Given the description of an element on the screen output the (x, y) to click on. 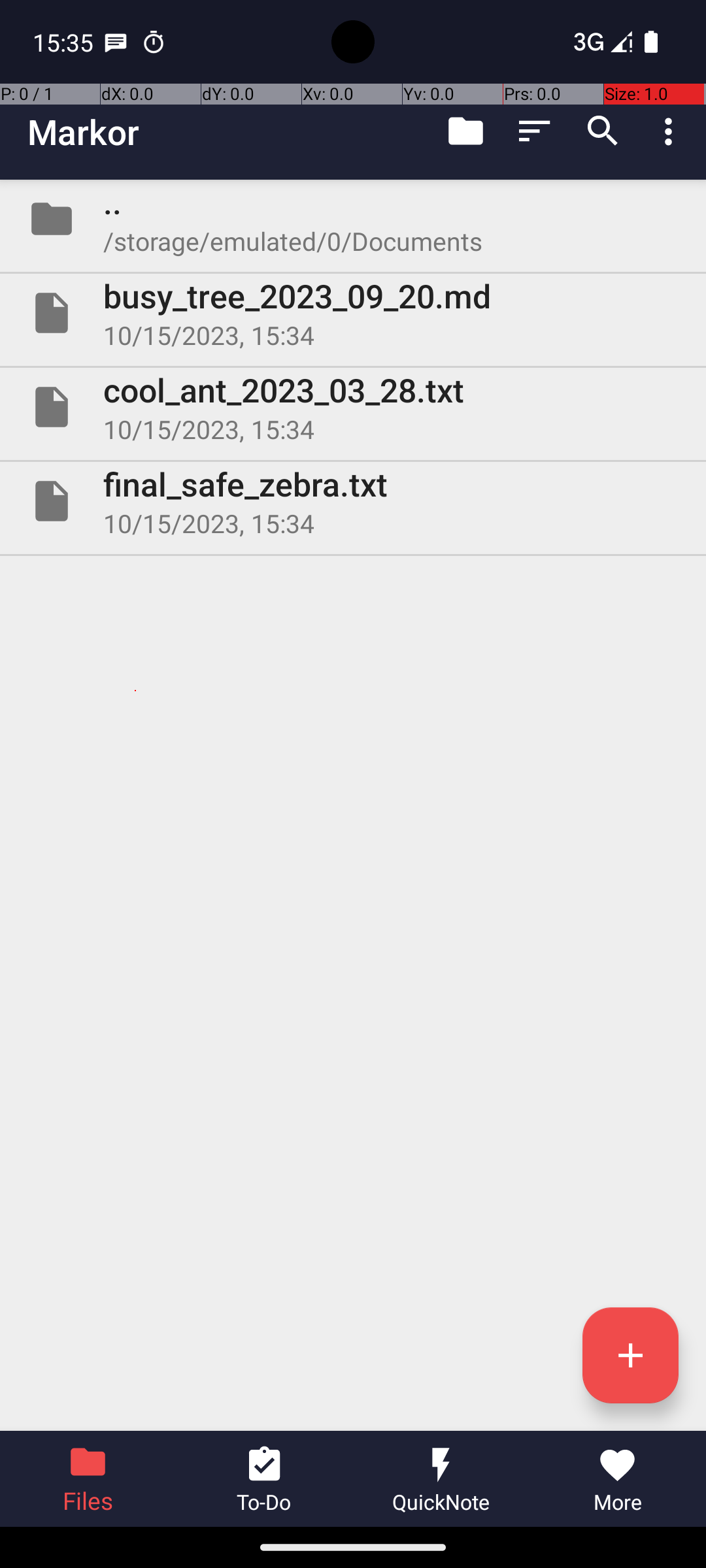
File busy_tree_2023_09_20.md  Element type: android.widget.LinearLayout (353, 312)
File cool_ant_2023_03_28.txt  Element type: android.widget.LinearLayout (353, 406)
File final_safe_zebra.txt  Element type: android.widget.LinearLayout (353, 500)
SMS Messenger notification: Freya Hernandez Element type: android.widget.ImageView (115, 41)
